Given the description of an element on the screen output the (x, y) to click on. 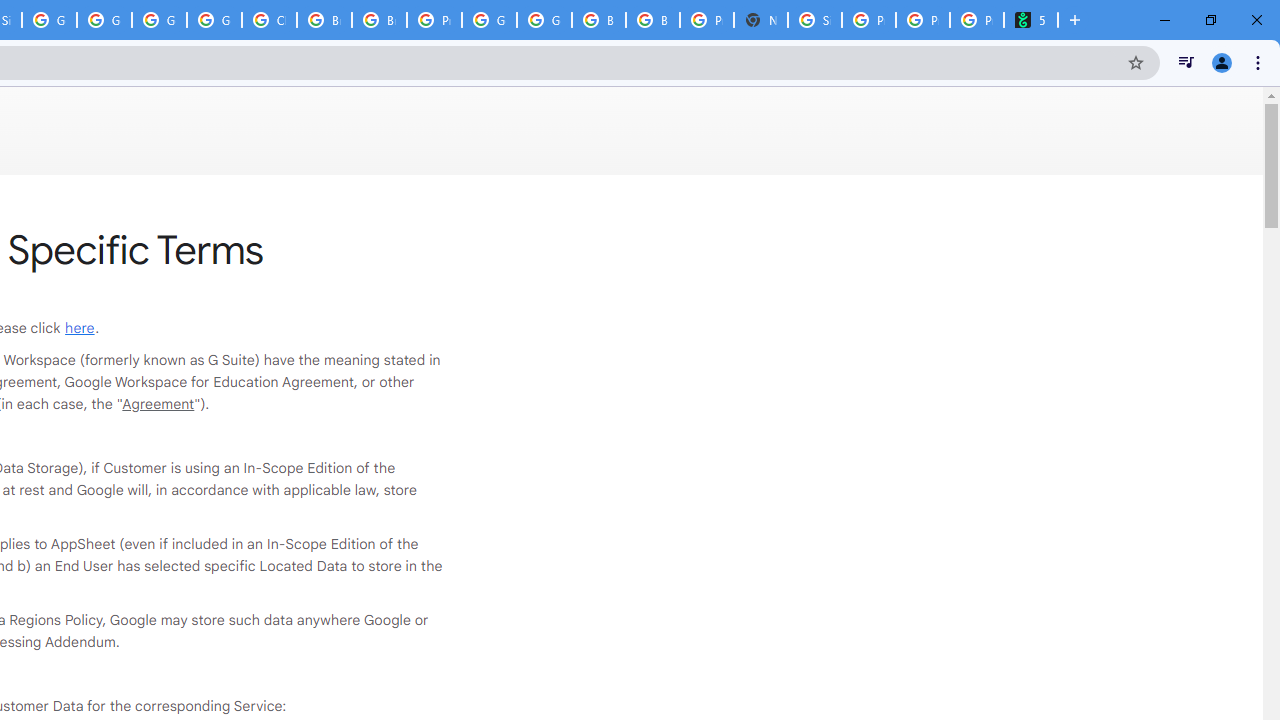
New Tab (760, 20)
Google Cloud Platform (544, 20)
Browse Chrome as a guest - Computer - Google Chrome Help (324, 20)
